Given the description of an element on the screen output the (x, y) to click on. 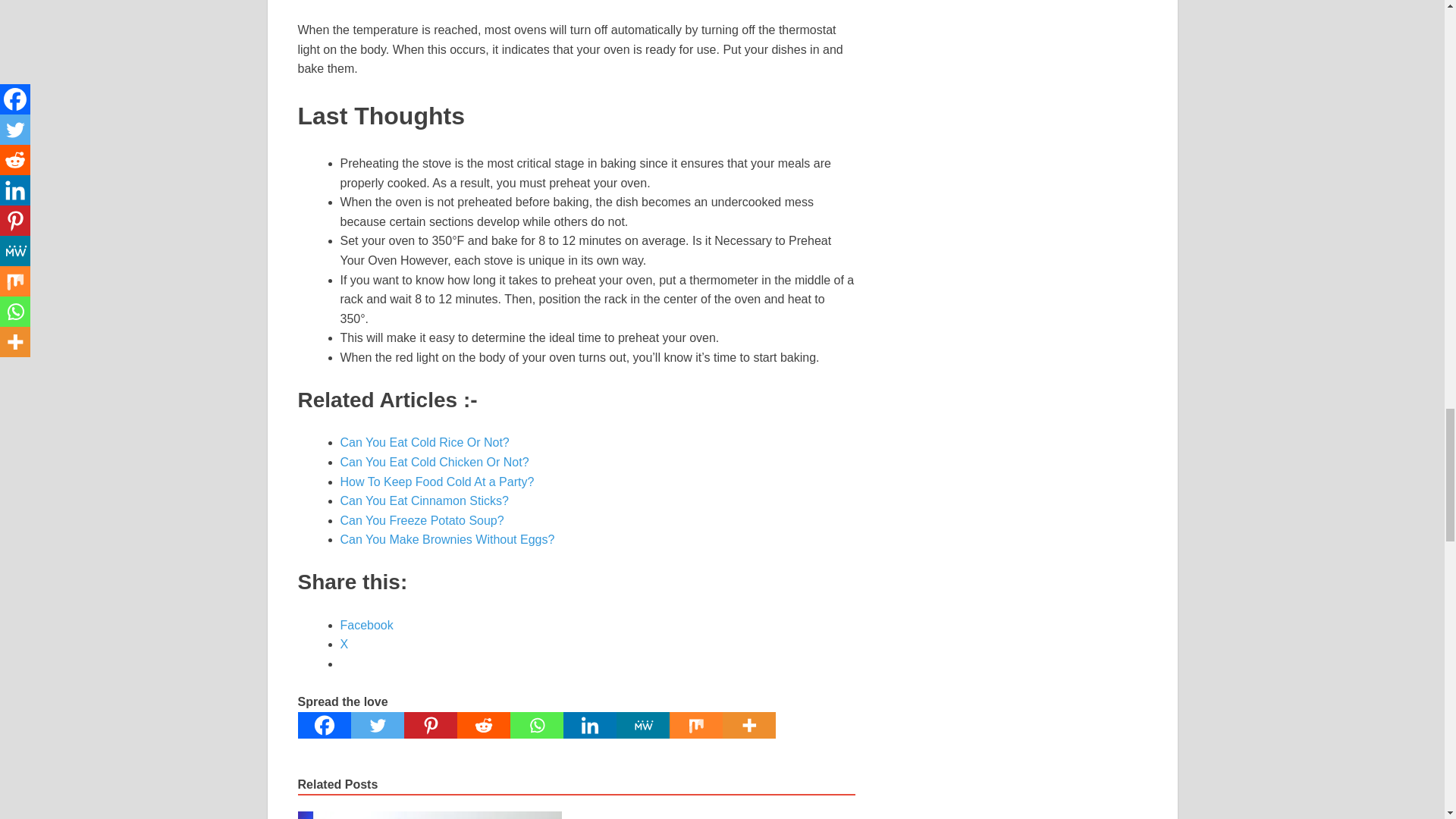
Reddit (483, 724)
Mix (695, 724)
Facebook (323, 724)
Linkedin (588, 724)
Pinterest (430, 724)
Whatsapp (535, 724)
MeWe (641, 724)
Click to share on X (343, 644)
More (748, 724)
Click to share on Facebook (366, 625)
Twitter (376, 724)
